Given the description of an element on the screen output the (x, y) to click on. 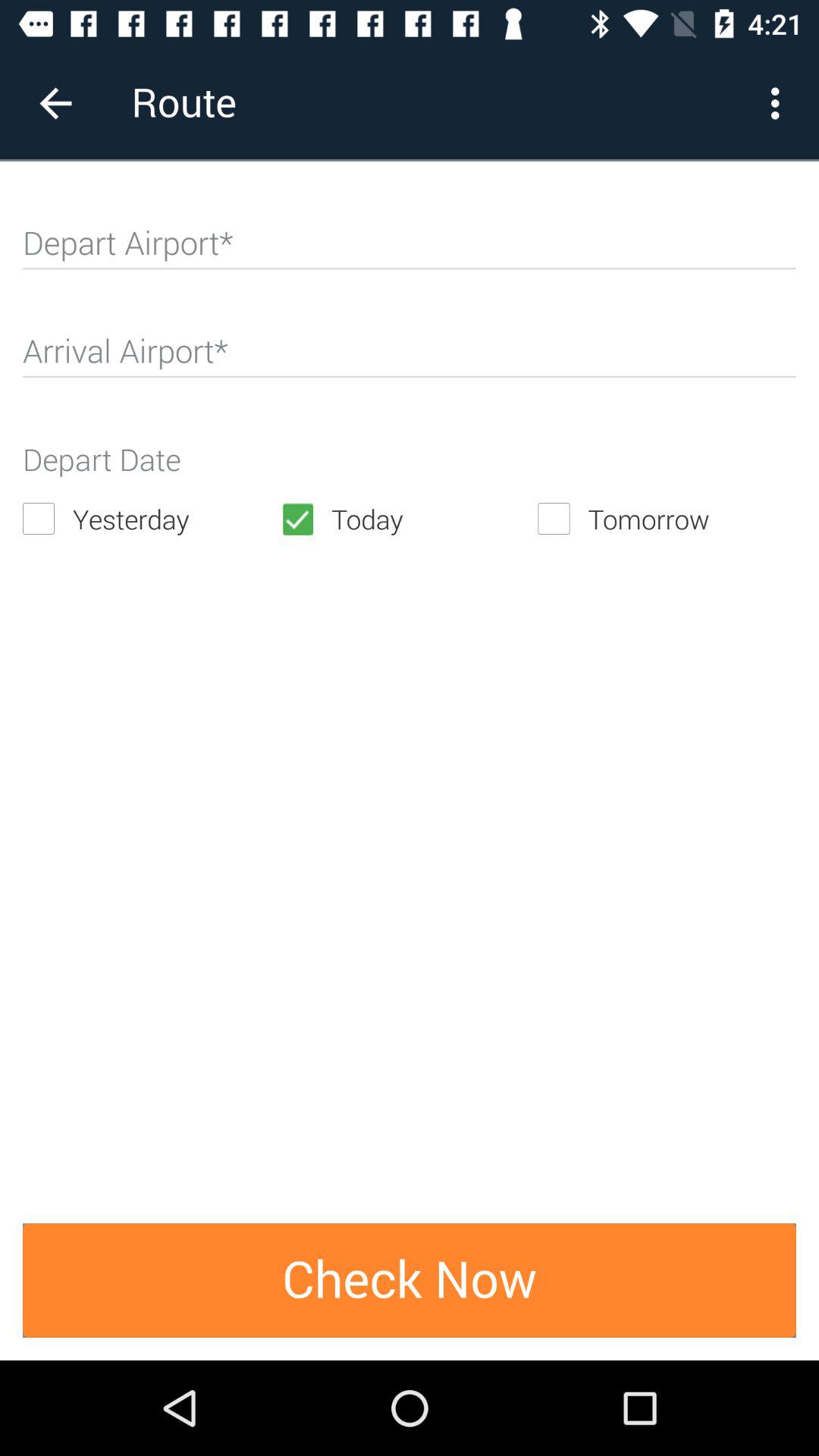
enter airport code or name (409, 249)
